Given the description of an element on the screen output the (x, y) to click on. 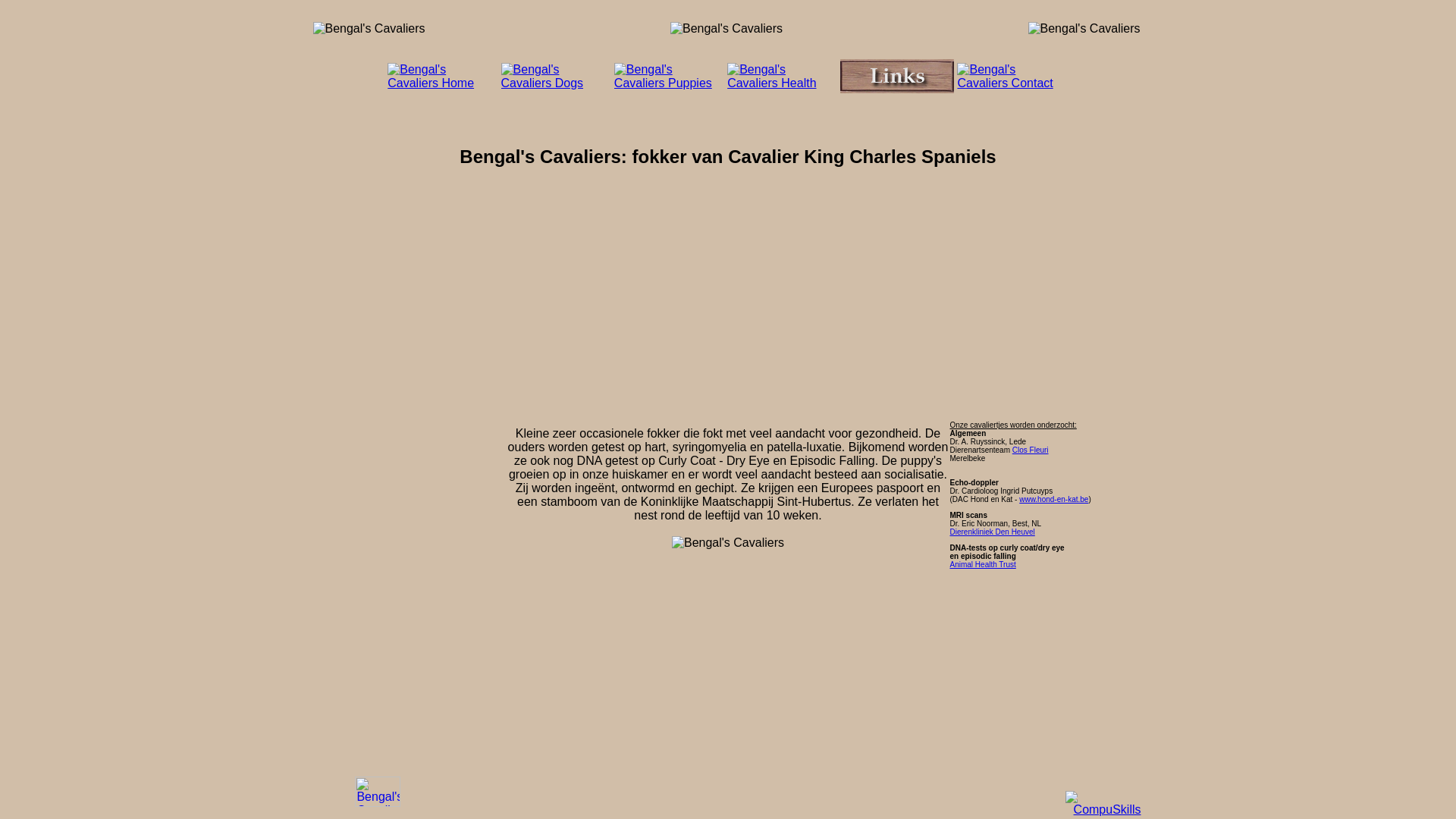
English version Element type: hover (377, 802)
puppies Element type: hover (669, 81)
Animal Health Trust Element type: text (982, 564)
www.hond-en-kat.be Element type: text (1053, 499)
Honden Element type: hover (556, 81)
Clos Fleuri Element type: text (1030, 449)
Links Element type: hover (896, 88)
Dierenkliniek Den Heuvel Element type: text (991, 531)
gezondheid Element type: hover (782, 81)
contact Element type: hover (1011, 81)
Home Element type: hover (442, 81)
